Given the description of an element on the screen output the (x, y) to click on. 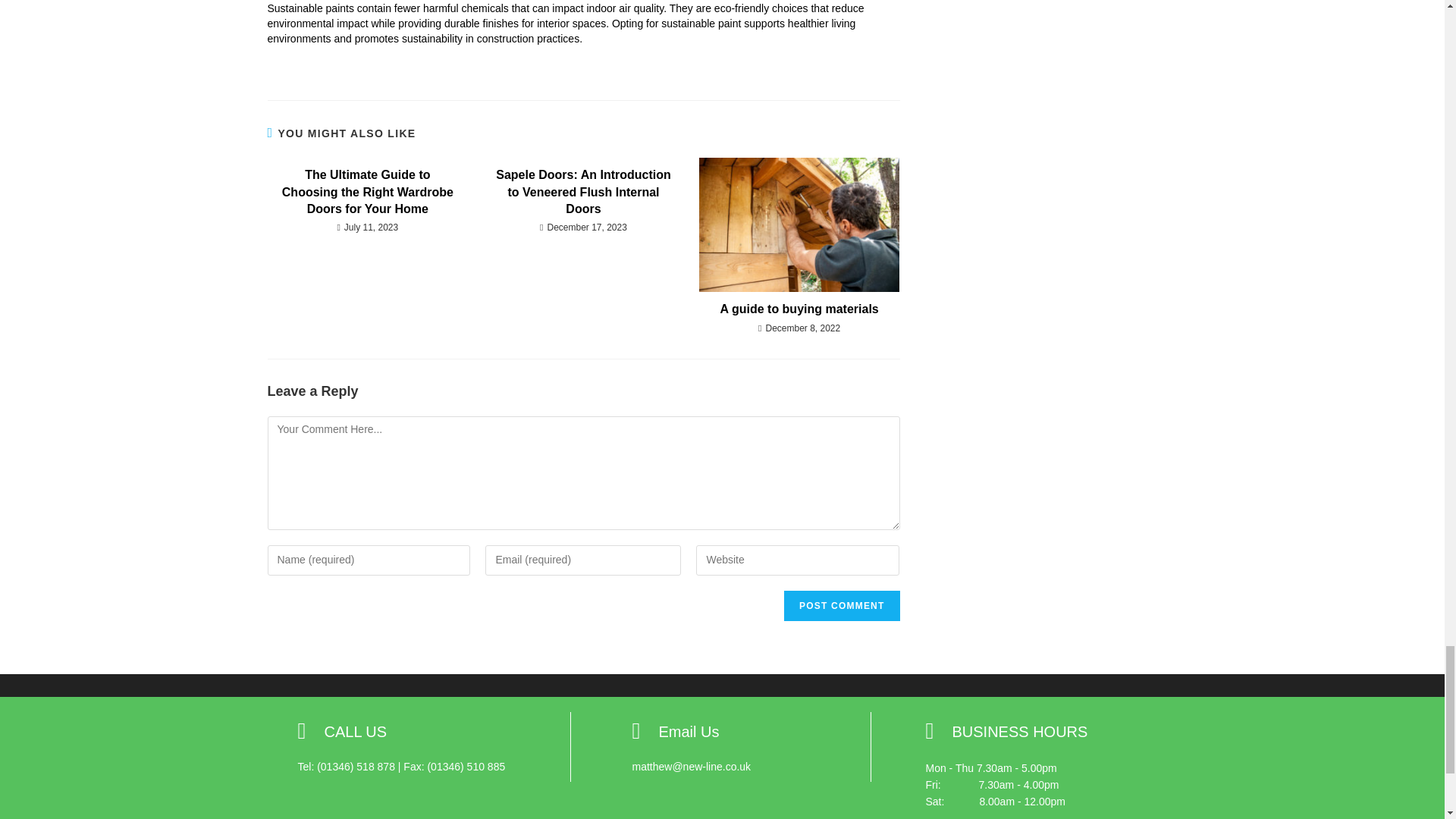
A guide to buying materials (799, 309)
Post Comment (841, 605)
